Given the description of an element on the screen output the (x, y) to click on. 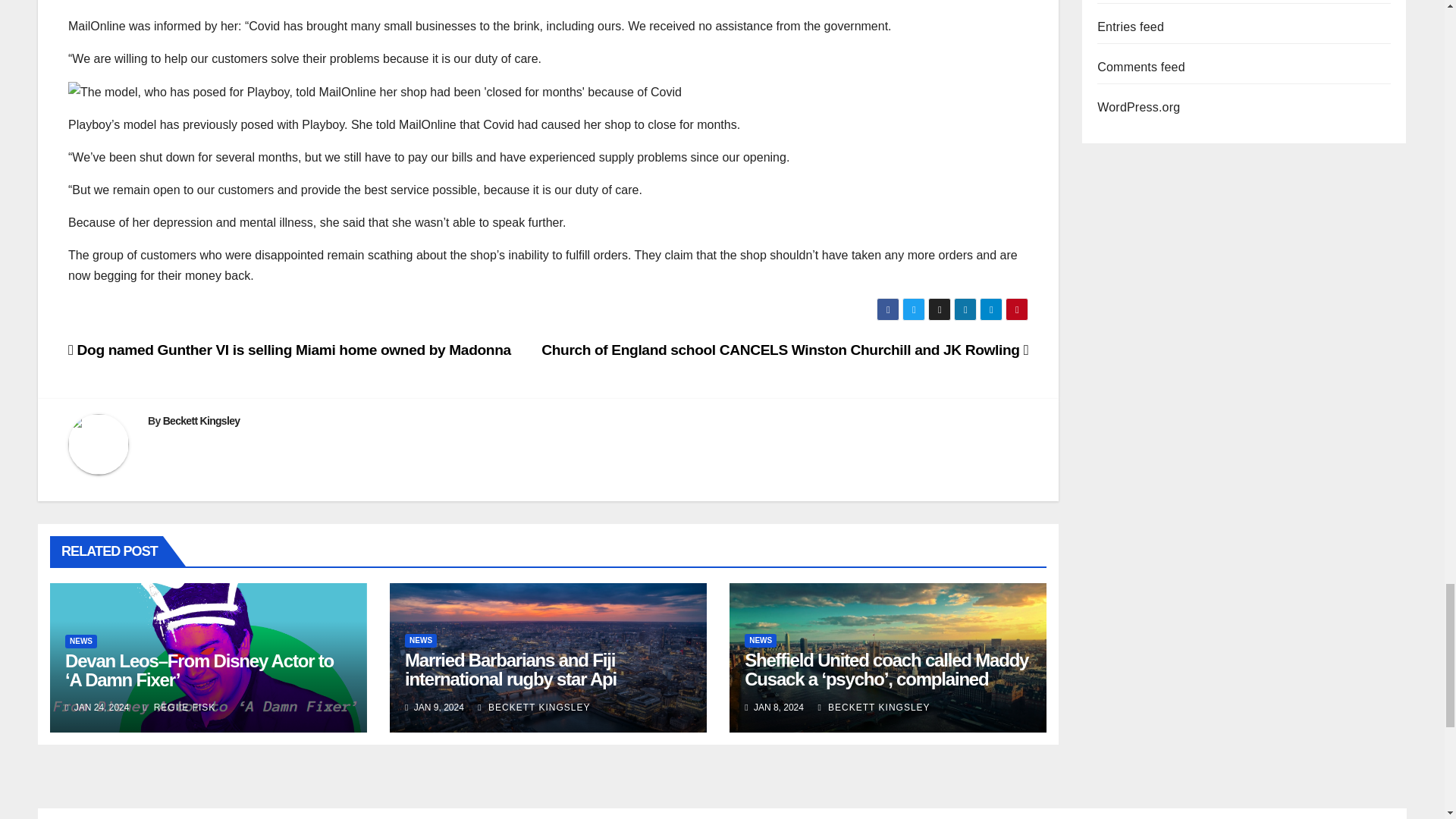
NEWS (81, 641)
Beckett Kingsley (201, 420)
REGIIE FISK (178, 706)
NEWS (760, 640)
BECKETT KINGSLEY (533, 706)
BECKETT KINGSLEY (873, 706)
NEWS (420, 640)
Dog named Gunther VI is selling Miami home owned by Madonna  (291, 349)
